Given the description of an element on the screen output the (x, y) to click on. 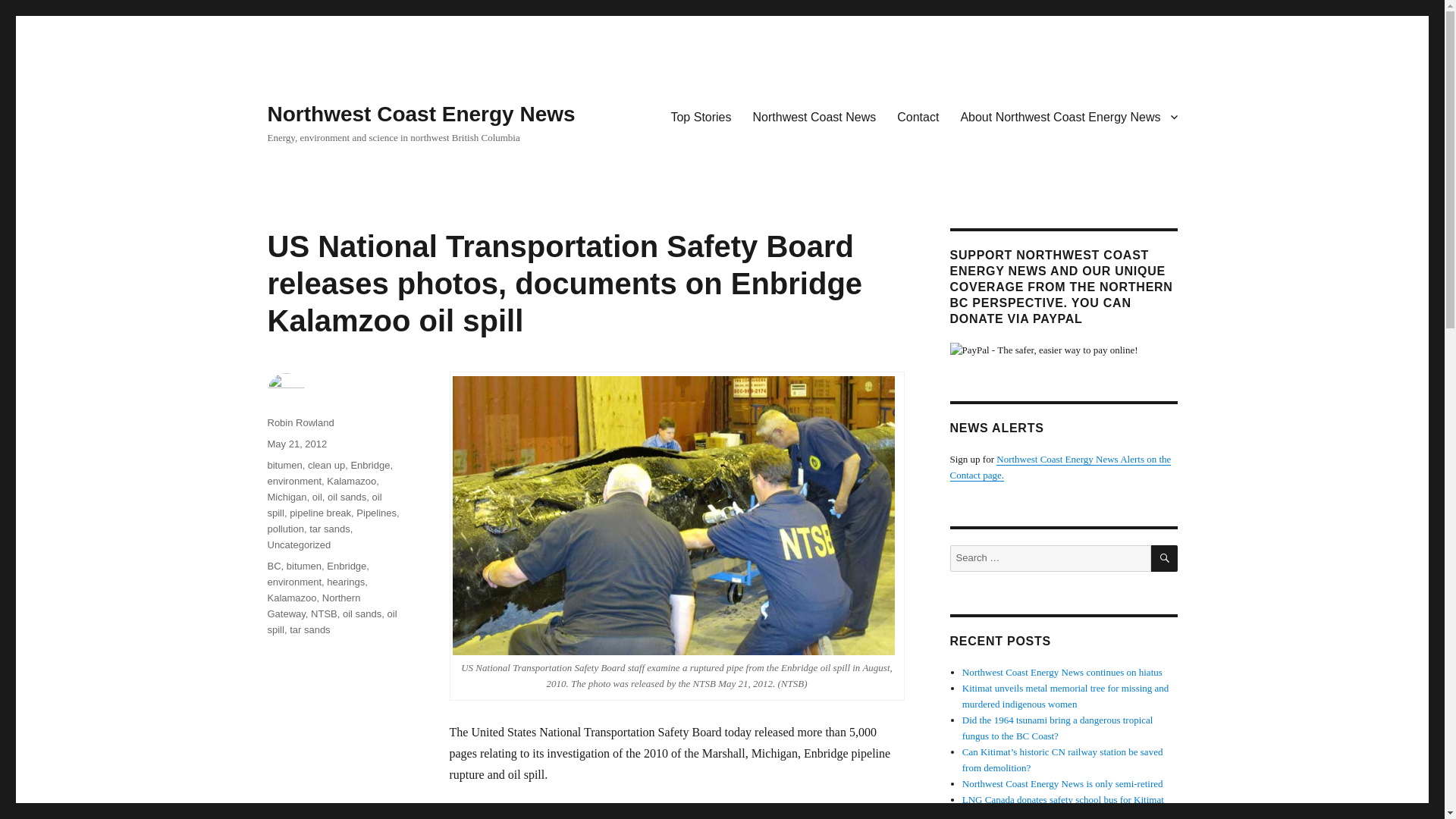
Robin Rowland (299, 422)
Uncategorized (298, 544)
Enbridge (346, 565)
Northern Gateway (312, 605)
pollution (284, 528)
bitumen (283, 464)
tar sands (328, 528)
Top Stories (700, 116)
oil sands (346, 496)
hearings (345, 582)
ntsbpipe (672, 515)
Kalamazoo (350, 480)
Northwest Coast Energy News (420, 114)
bitumen (303, 565)
Michigan (285, 496)
